Given the description of an element on the screen output the (x, y) to click on. 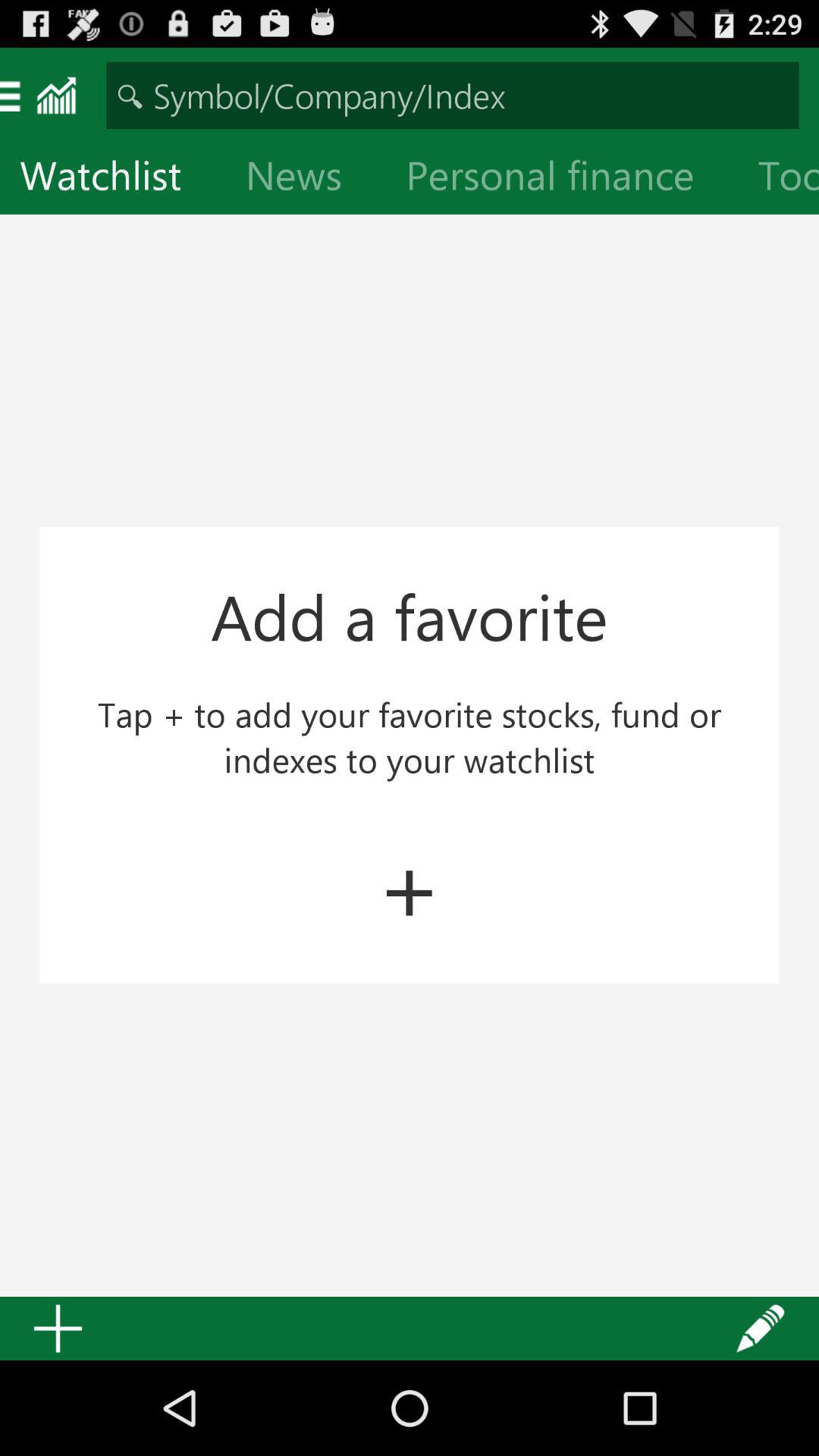
click icon to the right of the watchlist icon (305, 178)
